Given the description of an element on the screen output the (x, y) to click on. 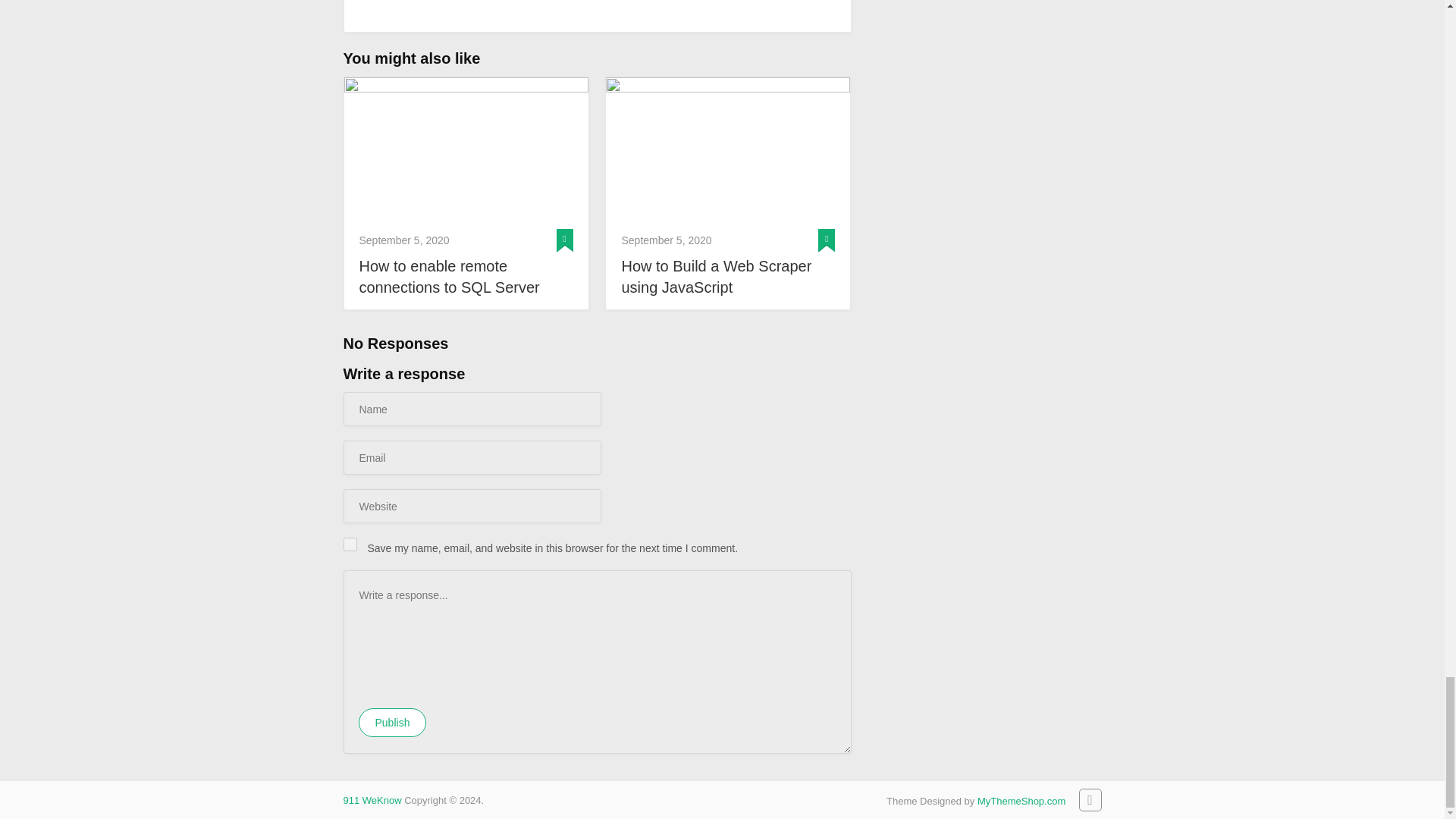
How to enable remote connections to SQL Server (466, 276)
How to Build a Web Scraper using JavaScript (727, 276)
yes (349, 544)
Publish (392, 722)
How to Build a Web Scraper using JavaScript (727, 148)
Publish (392, 722)
 911weknow.com (371, 799)
911 WeKnow (371, 799)
MyThemeShop.com (1020, 800)
How to enable remote connections to SQL Server (465, 148)
How to enable remote connections to SQL Server (466, 276)
How to Build a Web Scraper using JavaScript (727, 276)
